Given the description of an element on the screen output the (x, y) to click on. 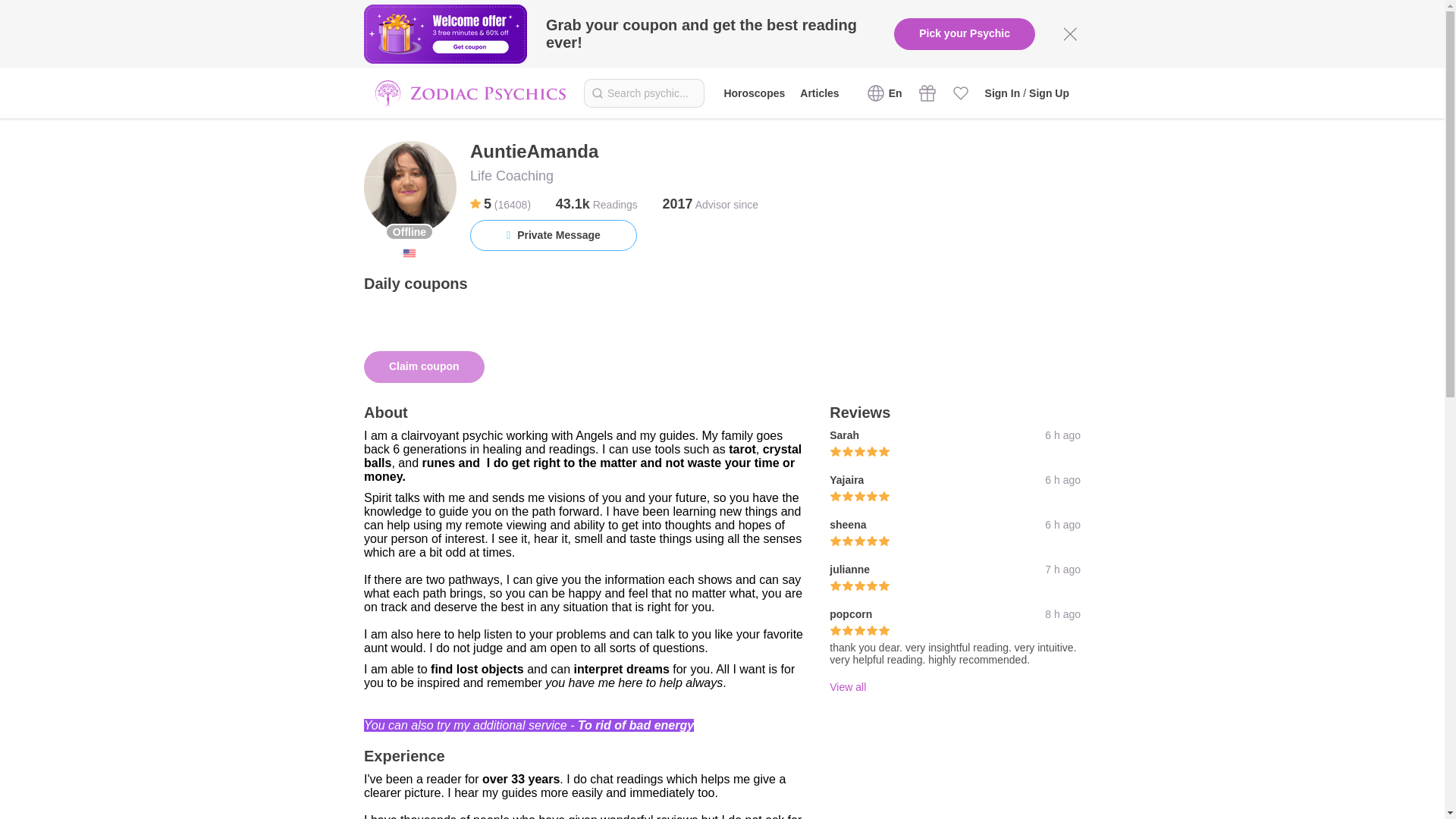
Articles (818, 92)
Horoscopes (753, 92)
Zodiac Psychics (470, 93)
En (886, 93)
Pick your Psychic (964, 33)
Sign Up (1048, 92)
Sign In (1002, 92)
